Given the description of an element on the screen output the (x, y) to click on. 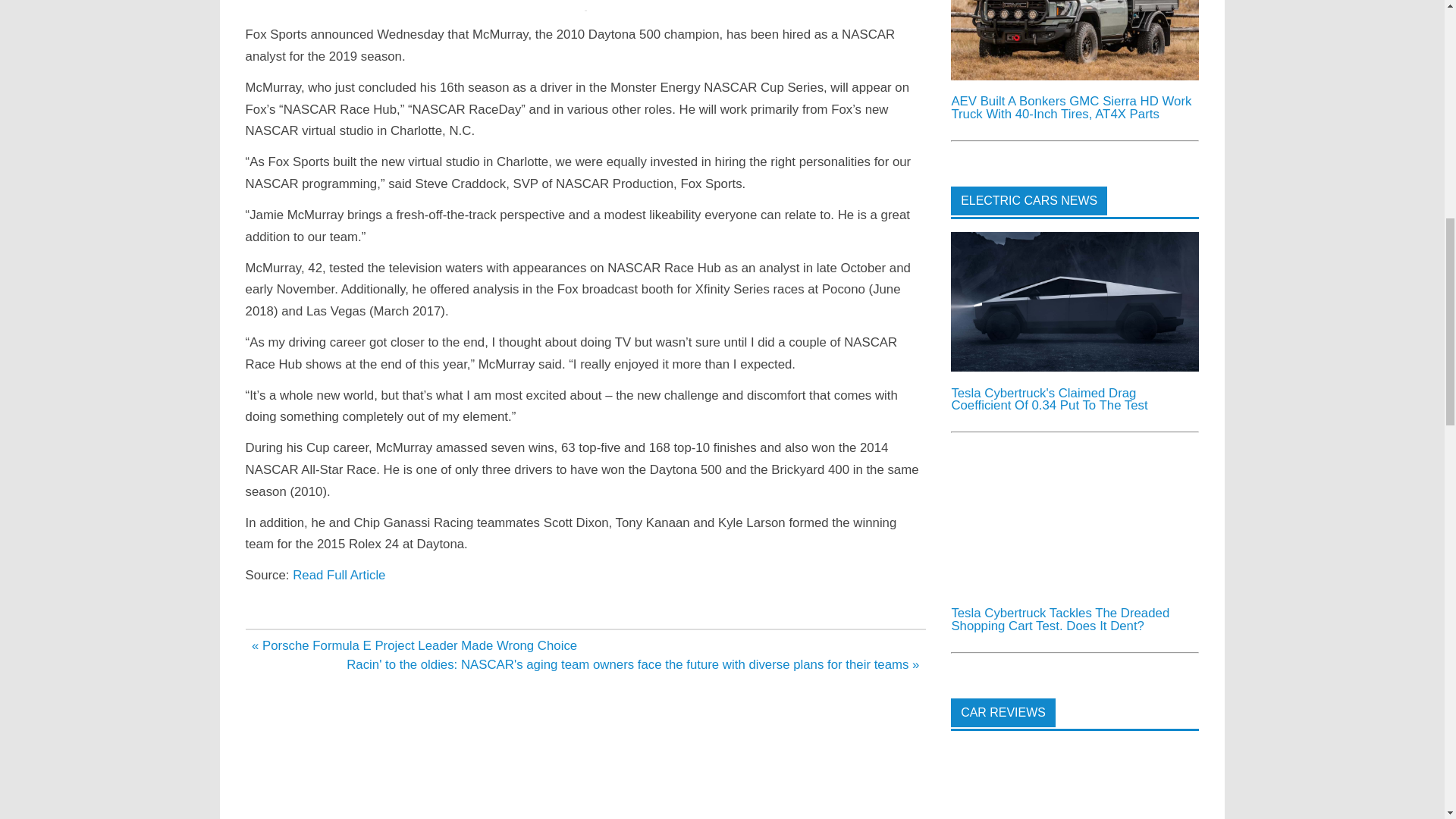
Read Full Article (338, 575)
